Given the description of an element on the screen output the (x, y) to click on. 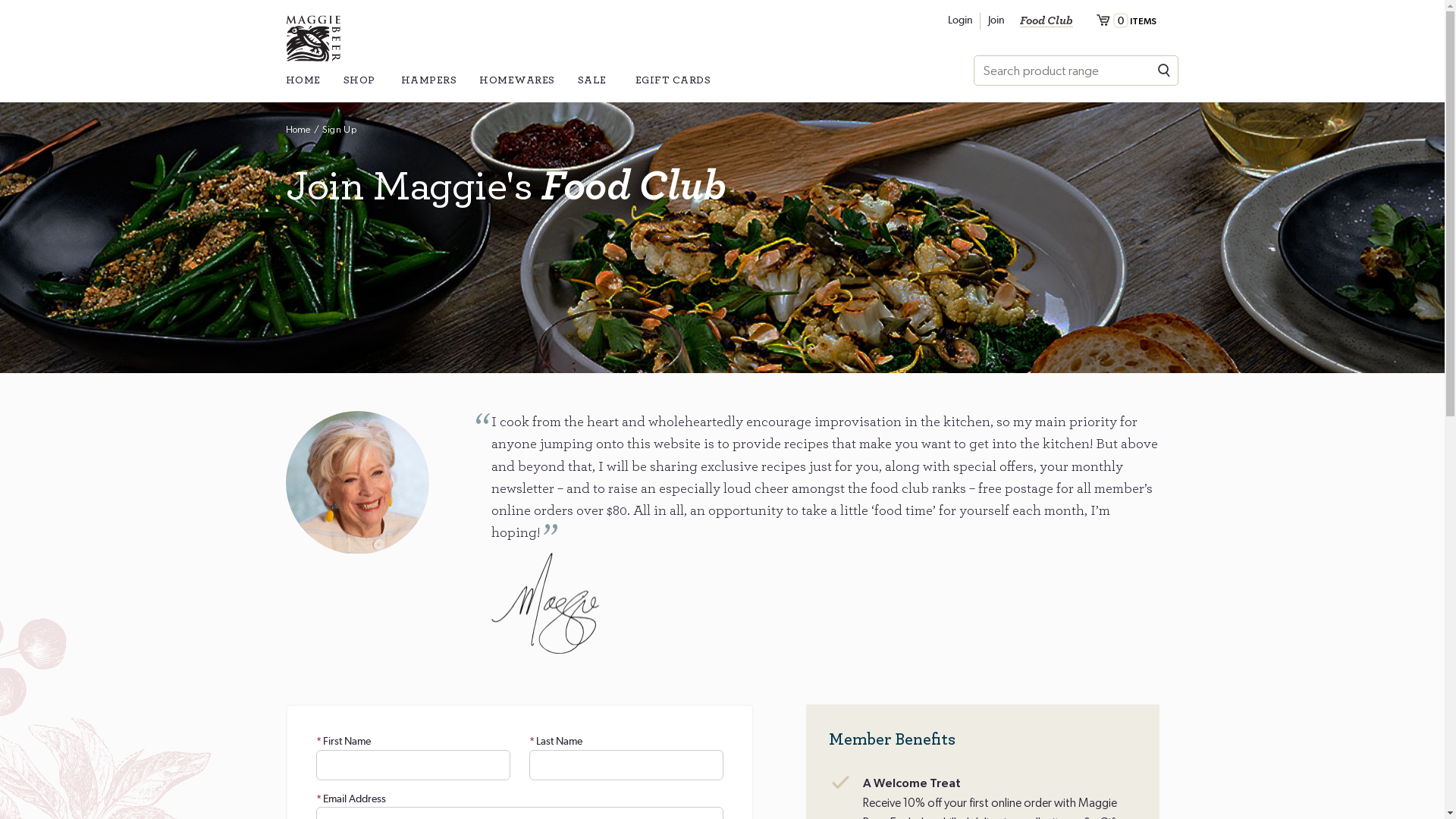
SHOP Element type: text (359, 88)
SALE Element type: text (594, 88)
Home Element type: text (297, 129)
HOMEWARES Element type: text (517, 88)
HAMPERS Element type: text (428, 88)
EGIFT CARDS Element type: text (673, 88)
Join
Food Club Element type: text (1026, 20)
HOME Element type: text (302, 88)
SEARCH Element type: text (1163, 70)
Login Element type: text (959, 20)
